Given the description of an element on the screen output the (x, y) to click on. 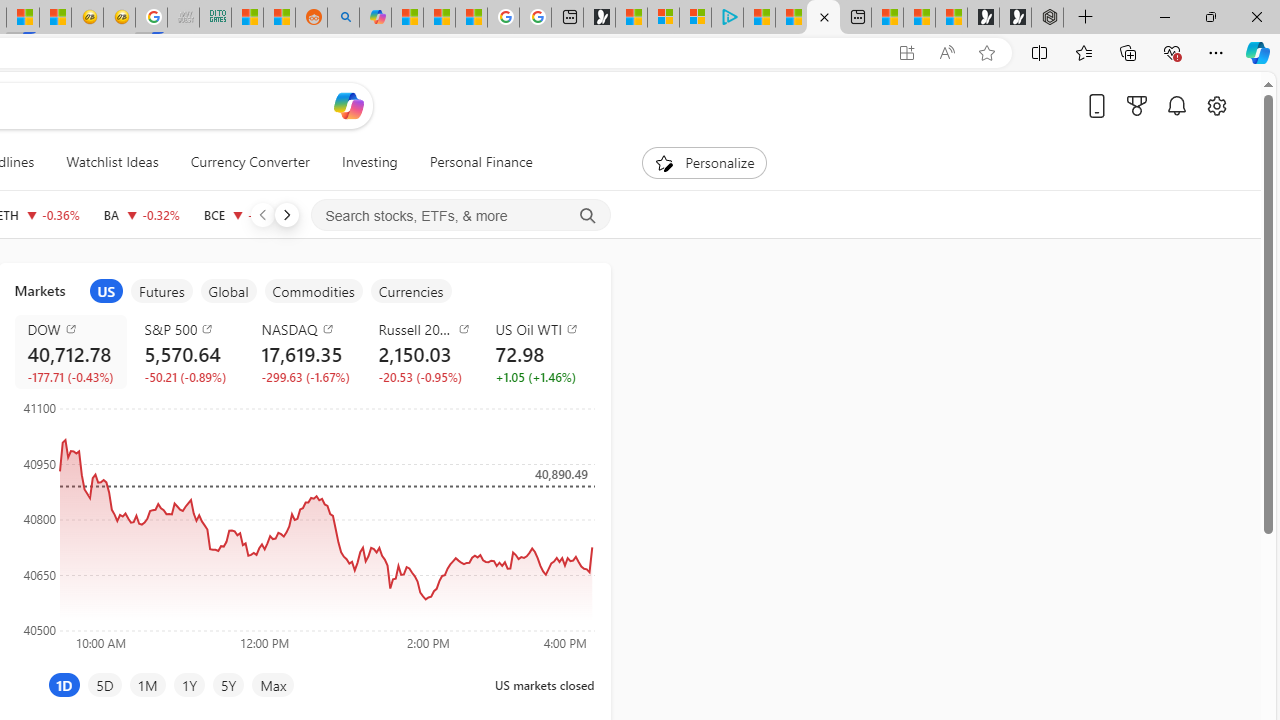
5Y (228, 684)
Navy Quest (182, 17)
item3 (228, 291)
Next (286, 214)
S&P 500 INX decrease 5,570.64 -50.21 -0.89% (187, 351)
Play Free Online Games | Games from Microsoft Start (1014, 17)
Microsoft account | Privacy (694, 17)
Russell 2000 (424, 328)
NASDAQ (307, 328)
US Oil WTI (541, 328)
